Given the description of an element on the screen output the (x, y) to click on. 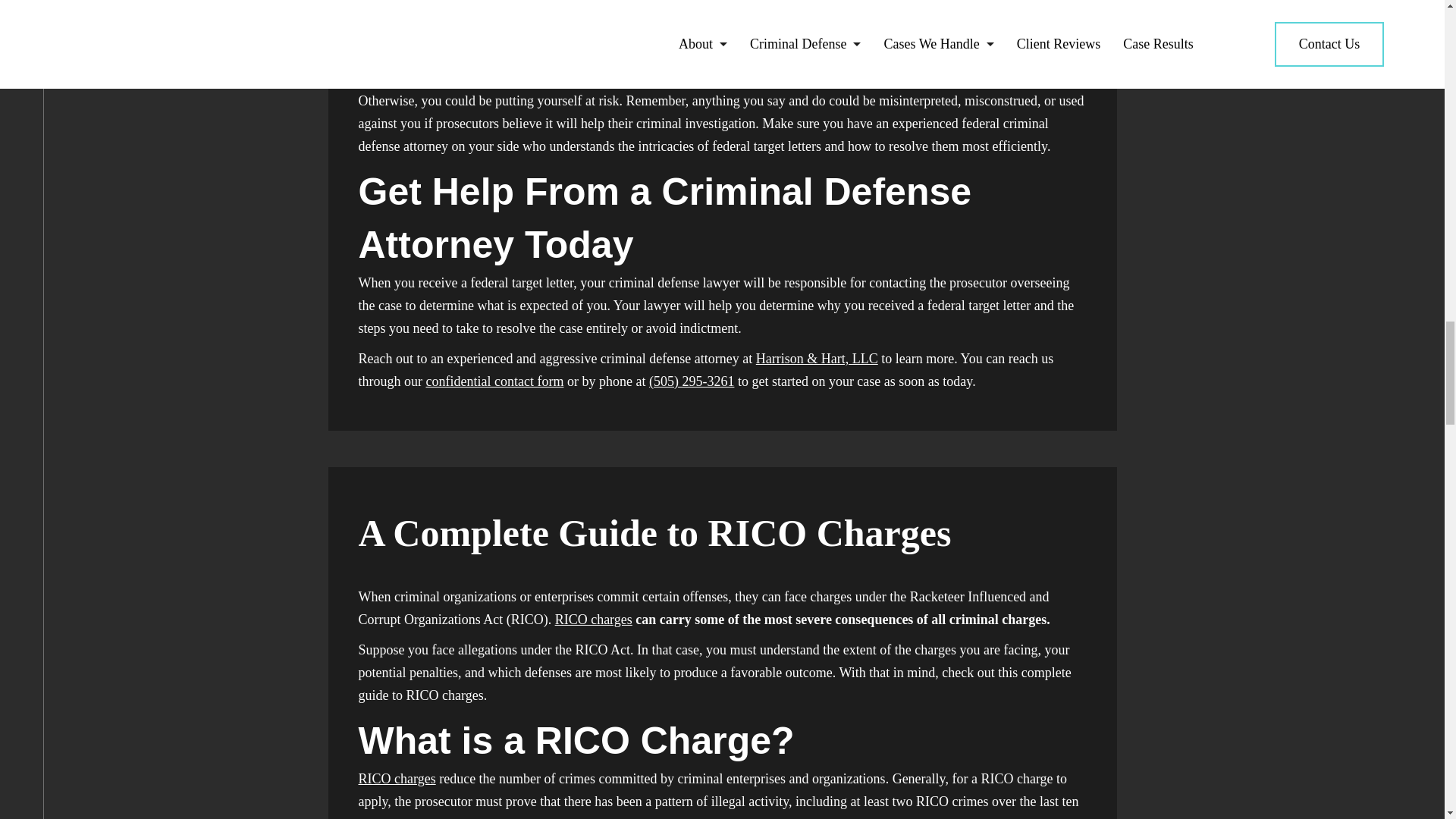
RICO charges (396, 778)
confidential contact form (495, 381)
RICO charges (592, 619)
